Given the description of an element on the screen output the (x, y) to click on. 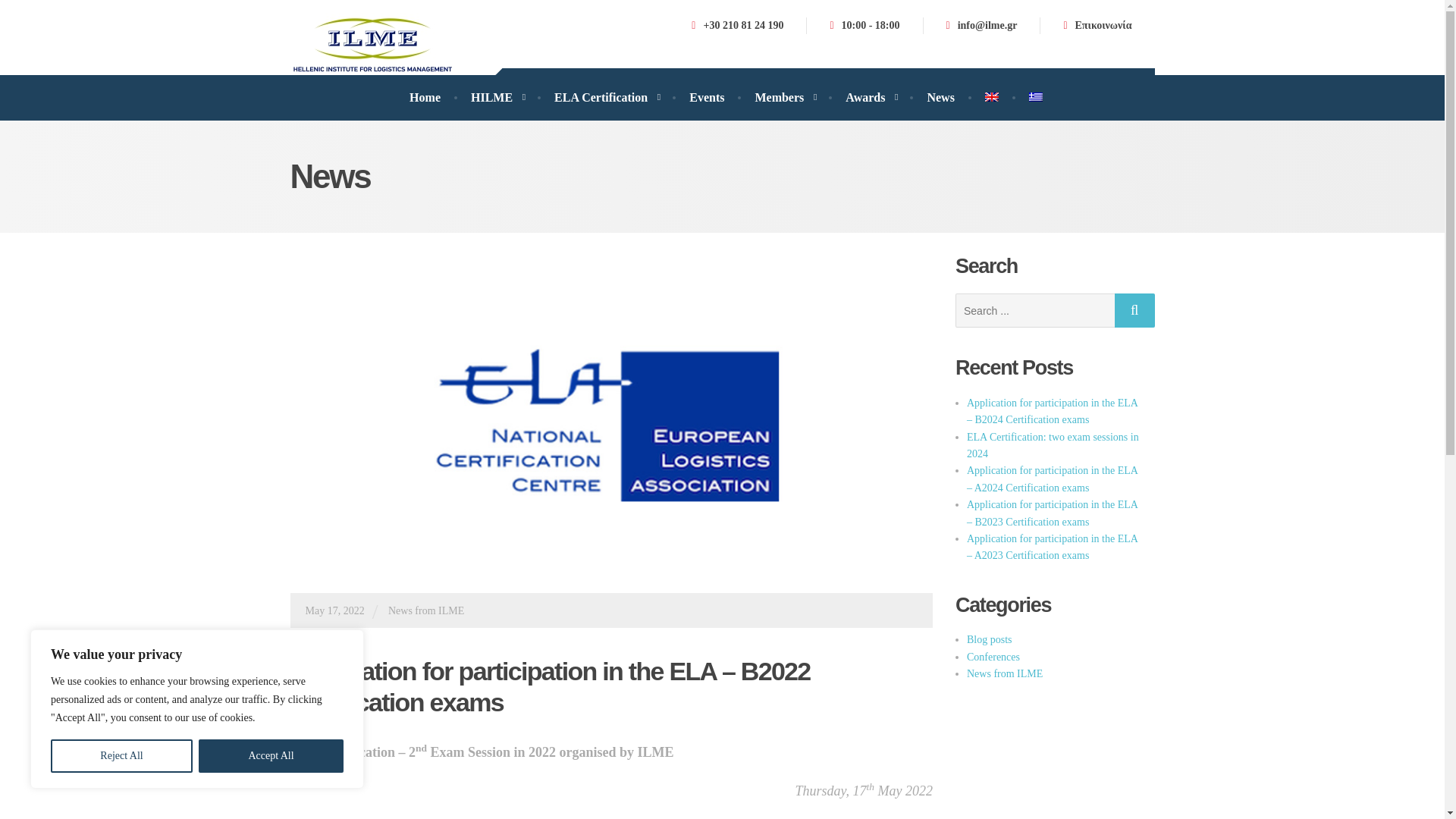
ELA Certification (606, 97)
Events (706, 97)
Members (784, 97)
Accept All (270, 756)
HILME (496, 97)
Awards (870, 97)
News (940, 97)
Reject All (121, 756)
Home (424, 97)
